Given the description of an element on the screen output the (x, y) to click on. 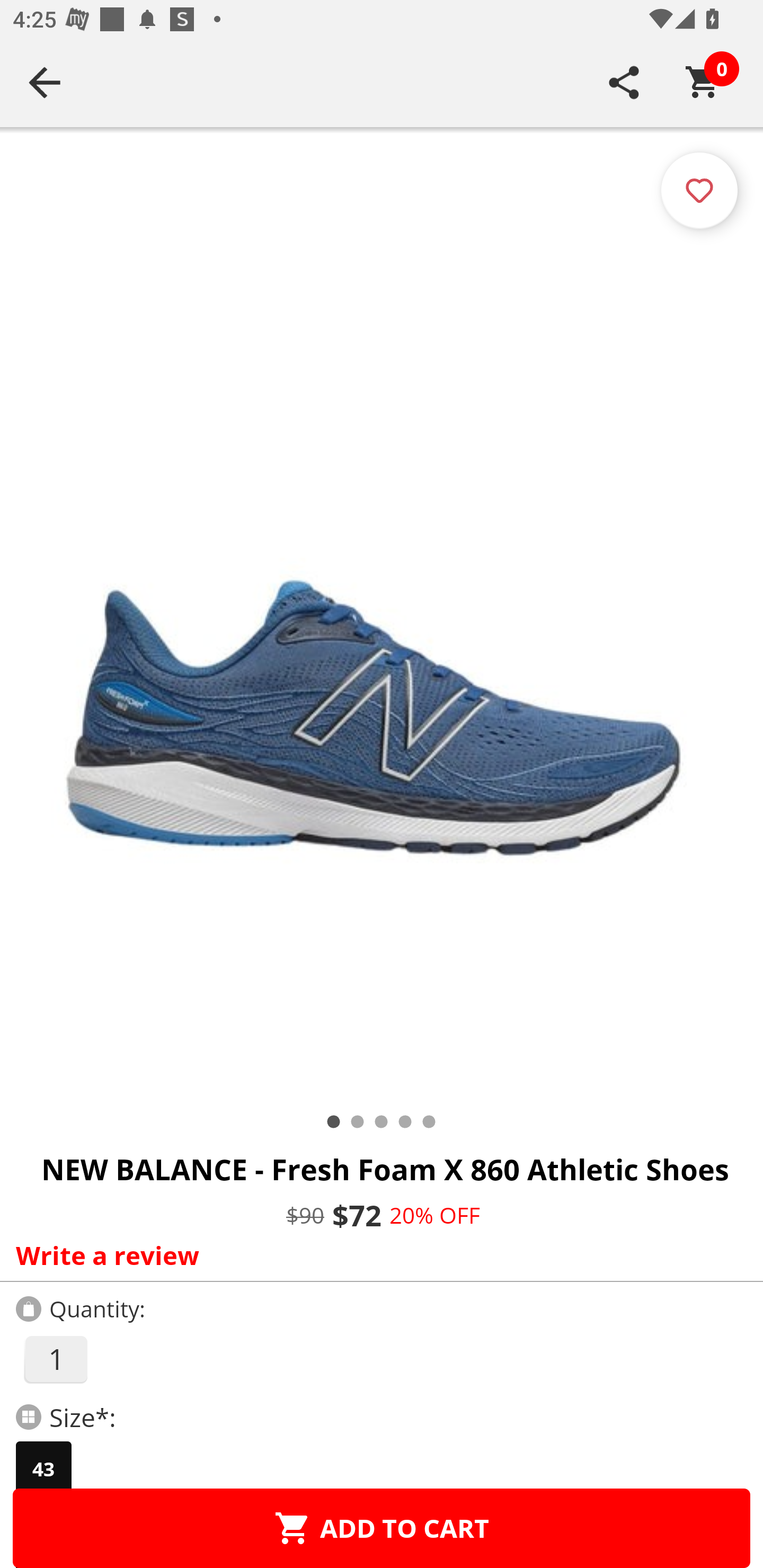
Navigate up (44, 82)
SHARE (623, 82)
Cart (703, 81)
Write a review (377, 1255)
1 (55, 1358)
43 (43, 1468)
ADD TO CART (381, 1528)
